Given the description of an element on the screen output the (x, y) to click on. 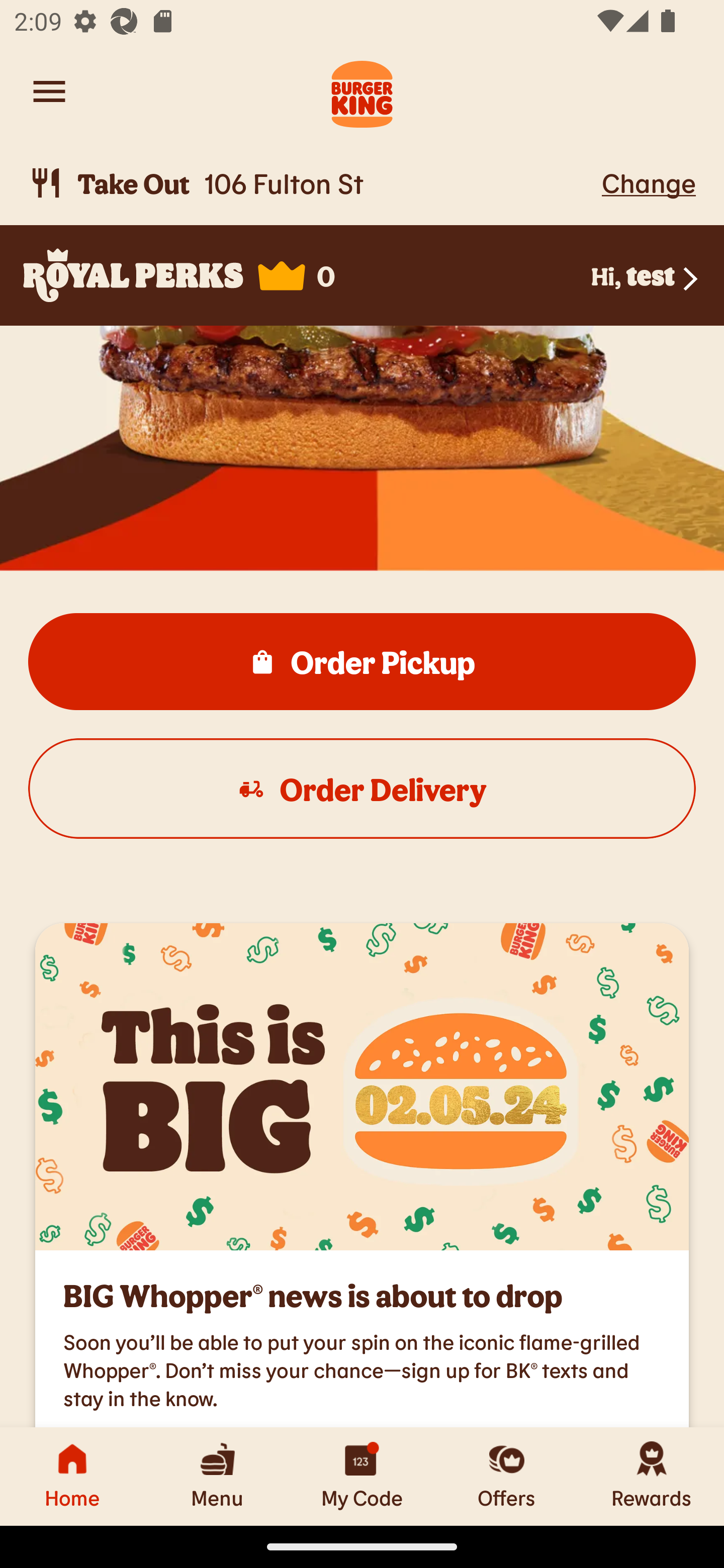
Burger King Logo. Navigate to Home (362, 91)
Navigate to account menu  (49, 91)
Take Out, 106 Fulton St  Take Out 106 Fulton St (311, 183)
Change (648, 182)
, Order Pickup  Order Pickup (361, 661)
, Order Delivery  Order Delivery (361, 788)
MDW Teaser Auth App (361, 1086)
Home (72, 1475)
Menu (216, 1475)
My Code (361, 1475)
Offers (506, 1475)
Rewards (651, 1475)
